Given the description of an element on the screen output the (x, y) to click on. 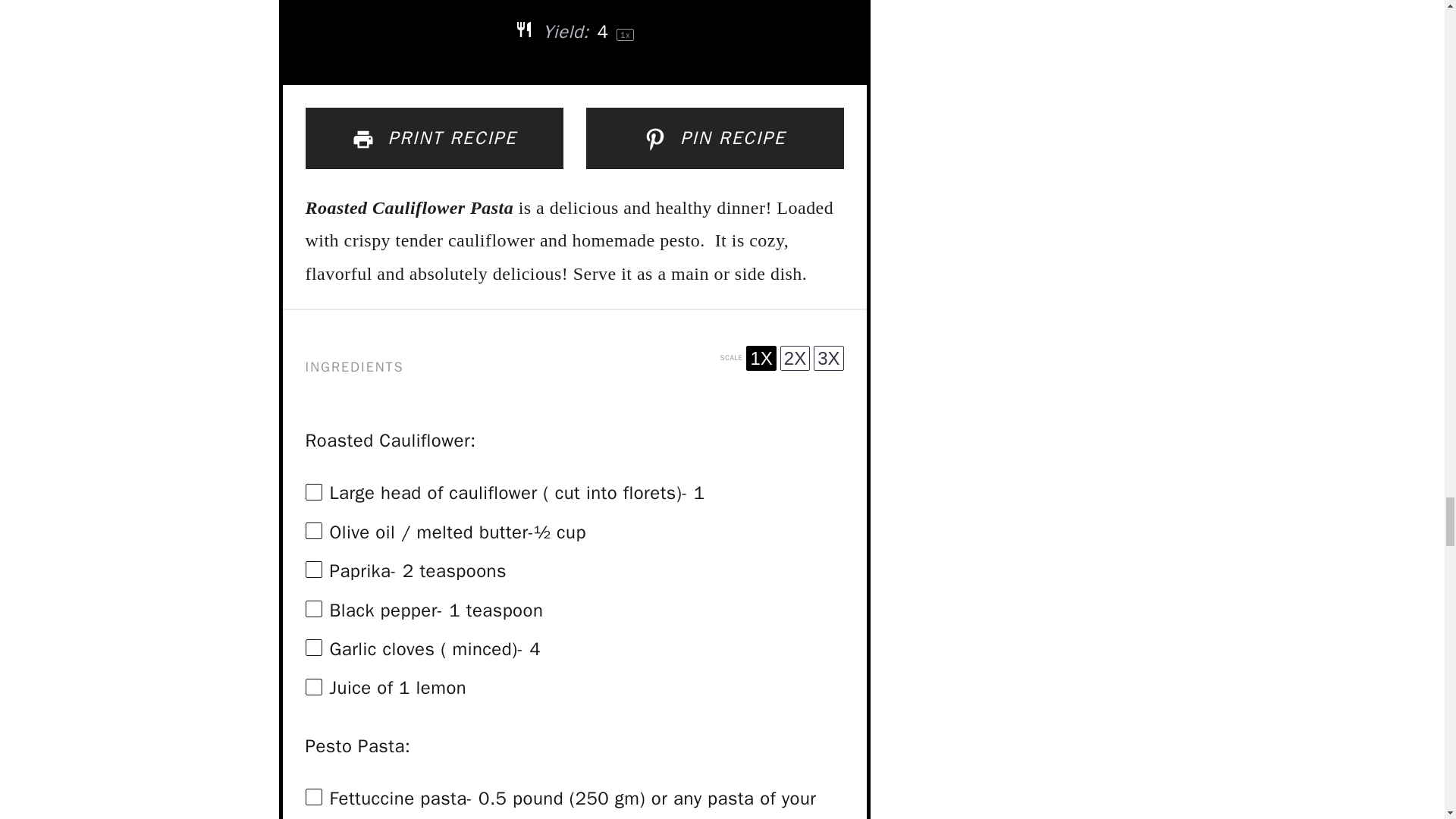
2X (794, 358)
1X (760, 358)
PIN RECIPE (714, 137)
3X (828, 358)
PRINT RECIPE (433, 137)
